Given the description of an element on the screen output the (x, y) to click on. 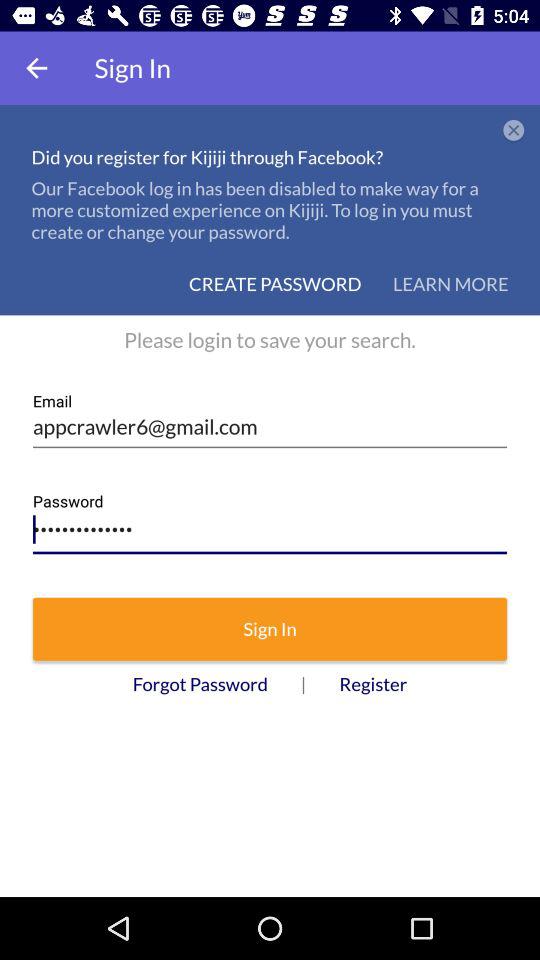
open appcrawler6@gmail.com (270, 419)
